Given the description of an element on the screen output the (x, y) to click on. 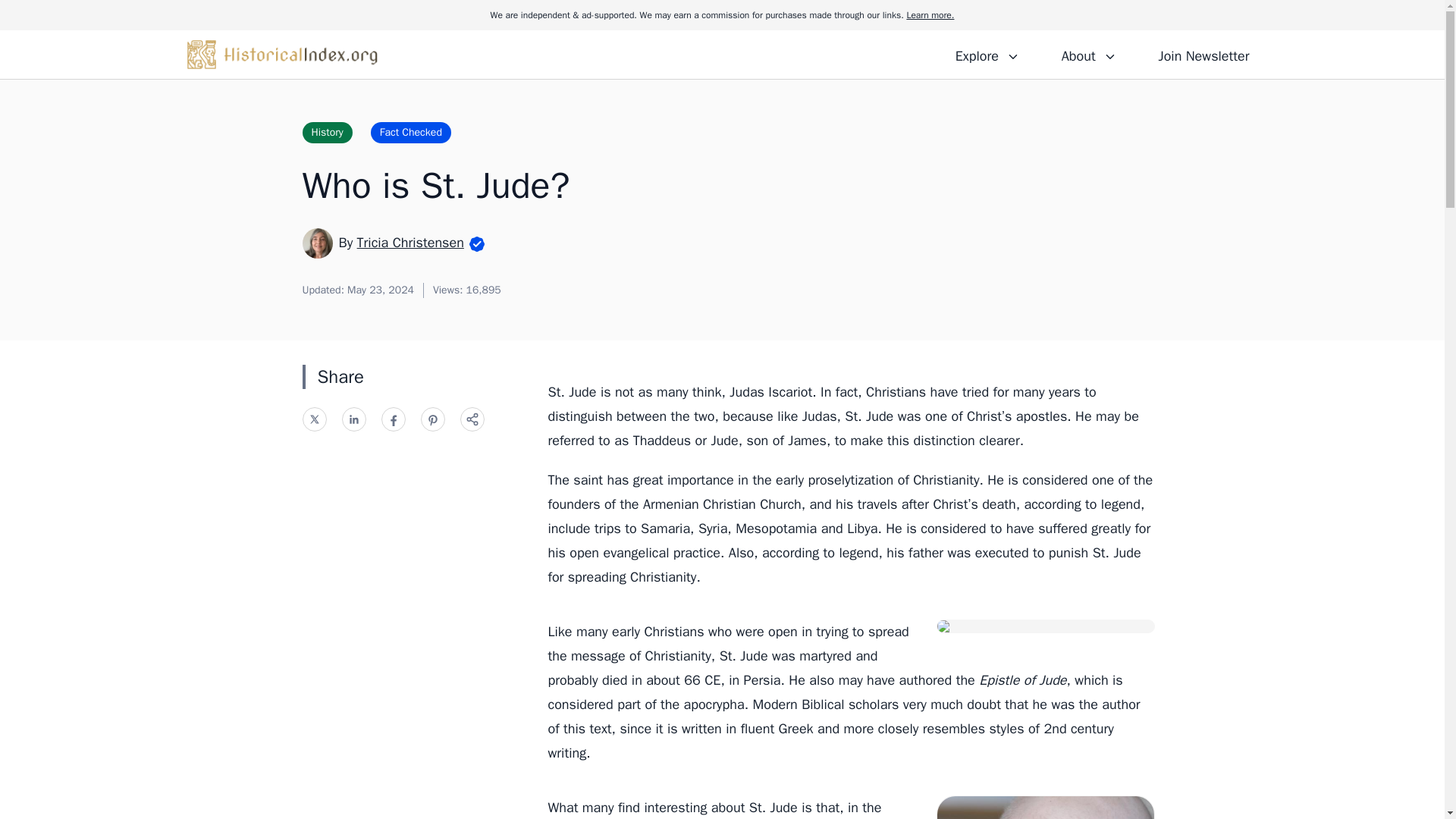
Explore (986, 54)
Fact Checked (411, 132)
About (1088, 54)
Join Newsletter (1202, 54)
History (326, 132)
Learn more. (929, 15)
Tricia Christensen (410, 242)
